Given the description of an element on the screen output the (x, y) to click on. 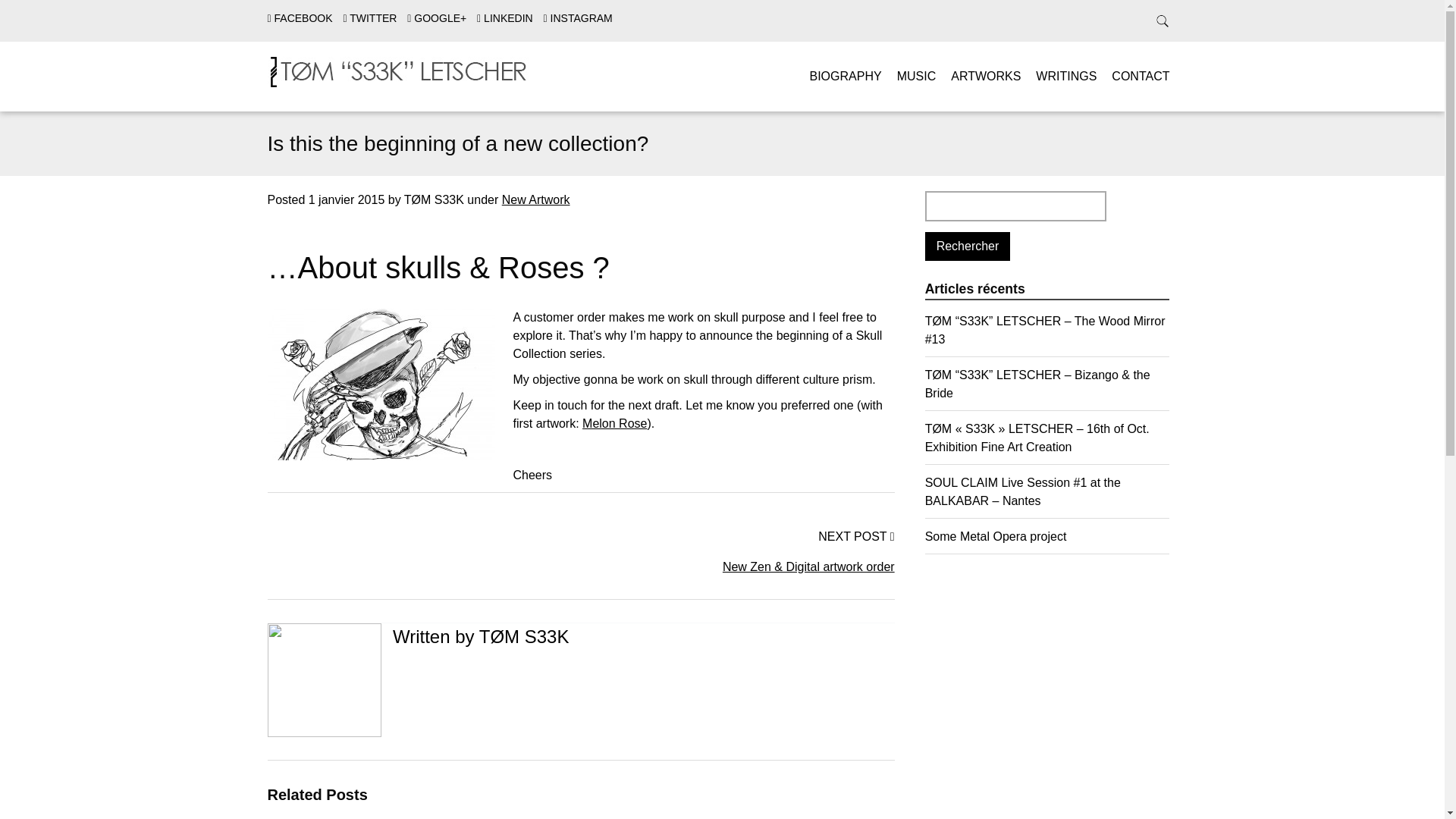
MUSIC (916, 76)
Rechercher (967, 246)
Rechercher (967, 246)
WRITINGS (1065, 76)
CONTACT (1140, 76)
BIOGRAPHY (845, 76)
ARTWORKS (985, 76)
TWITTER (369, 18)
INSTAGRAM (577, 18)
Search (30, 14)
